Given the description of an element on the screen output the (x, y) to click on. 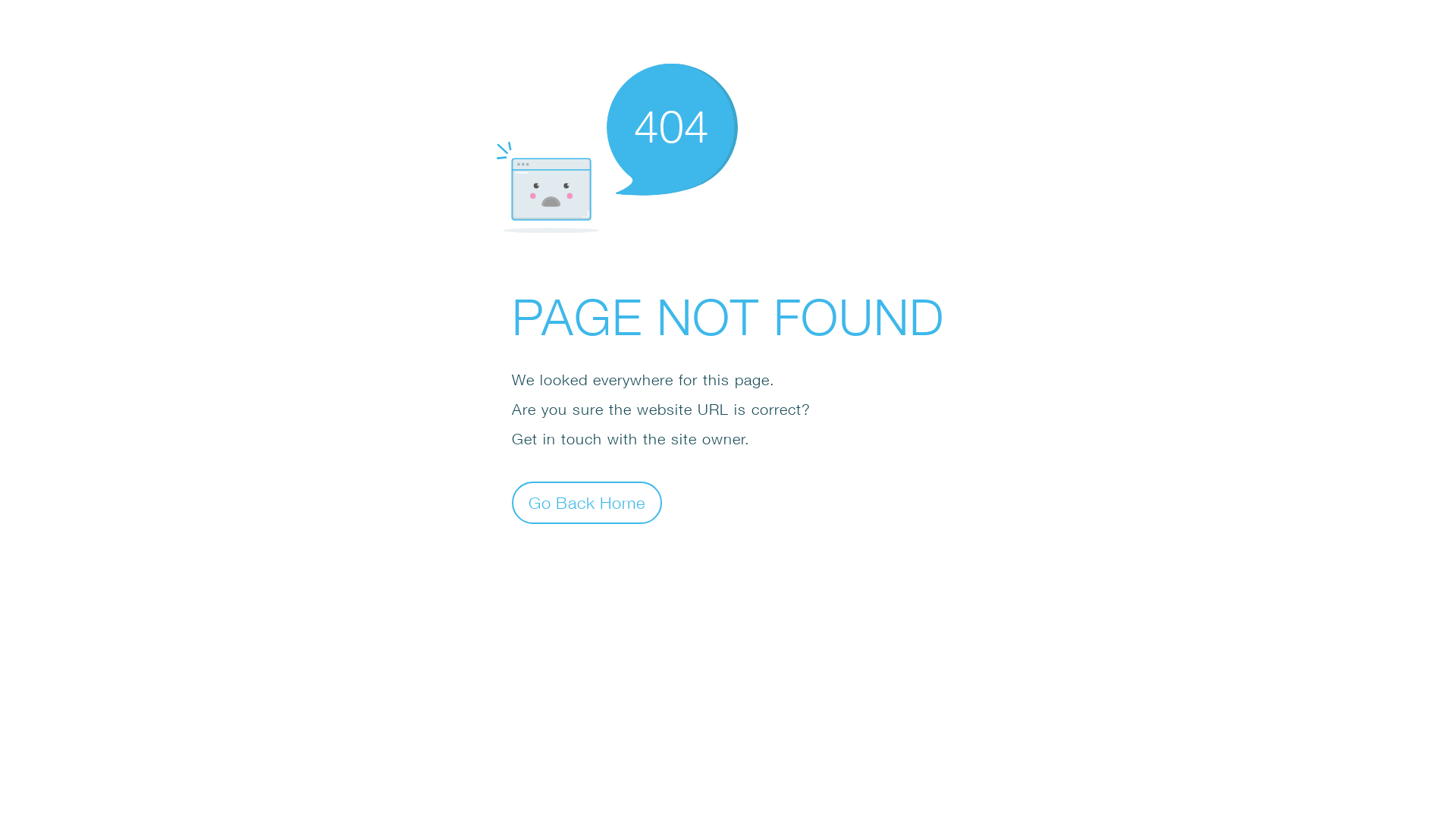
Go Back Home Element type: text (586, 502)
